Given the description of an element on the screen output the (x, y) to click on. 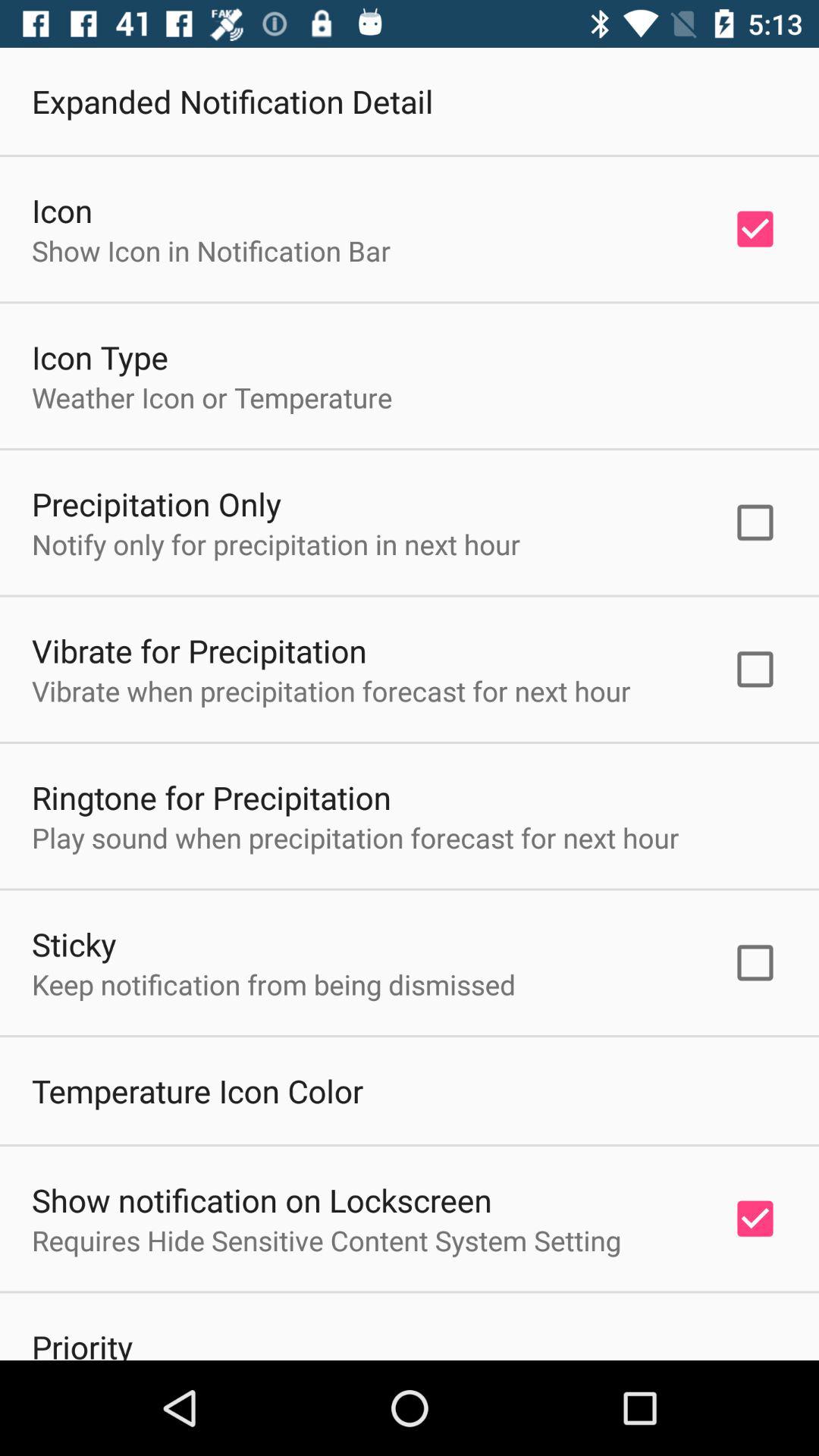
launch the icon below the icon type item (211, 397)
